Given the description of an element on the screen output the (x, y) to click on. 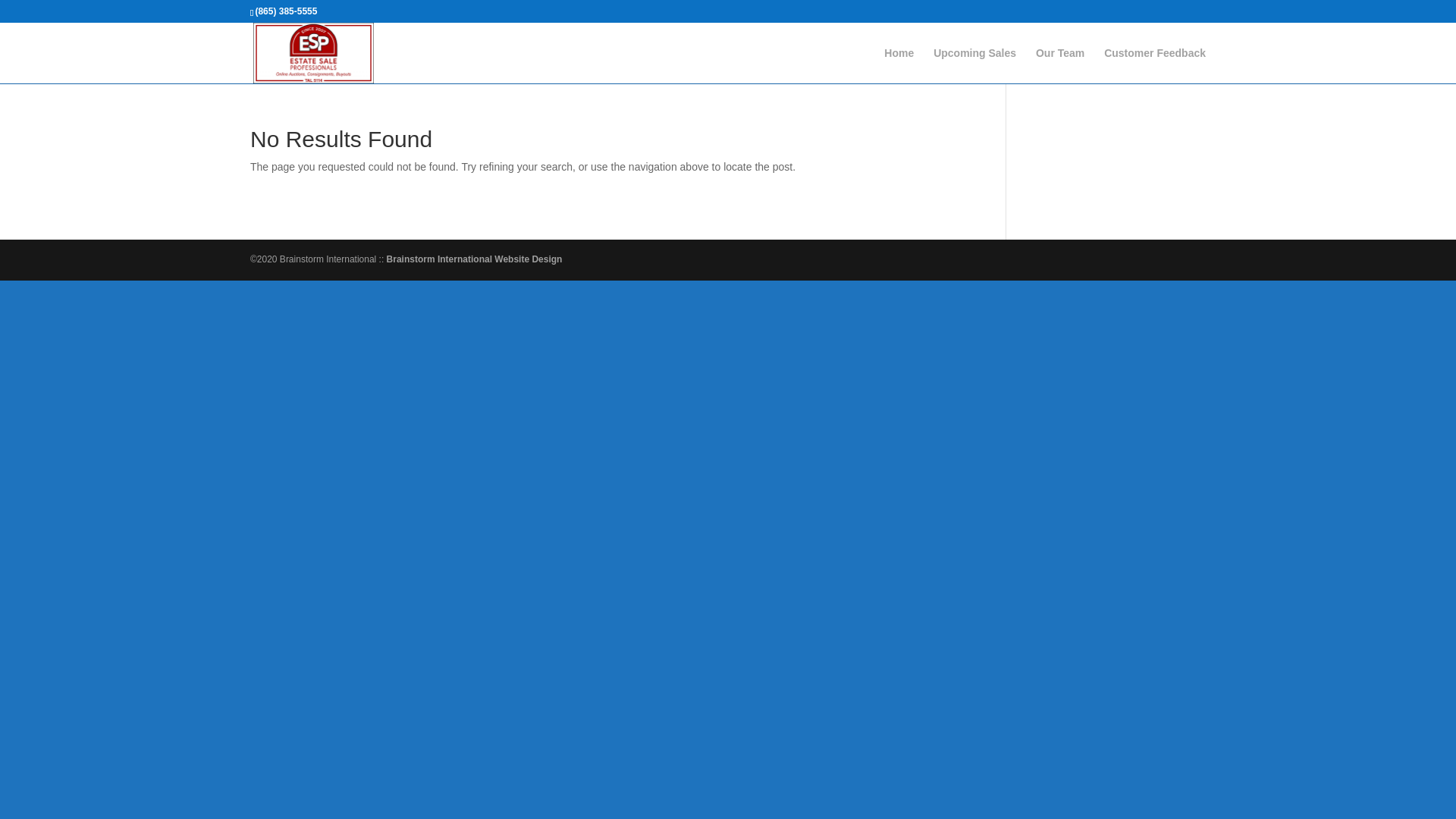
Our Team (1059, 65)
Customer Feedback (1154, 65)
Upcoming Sales (974, 65)
Brainstorm International Website Design (474, 258)
